Given the description of an element on the screen output the (x, y) to click on. 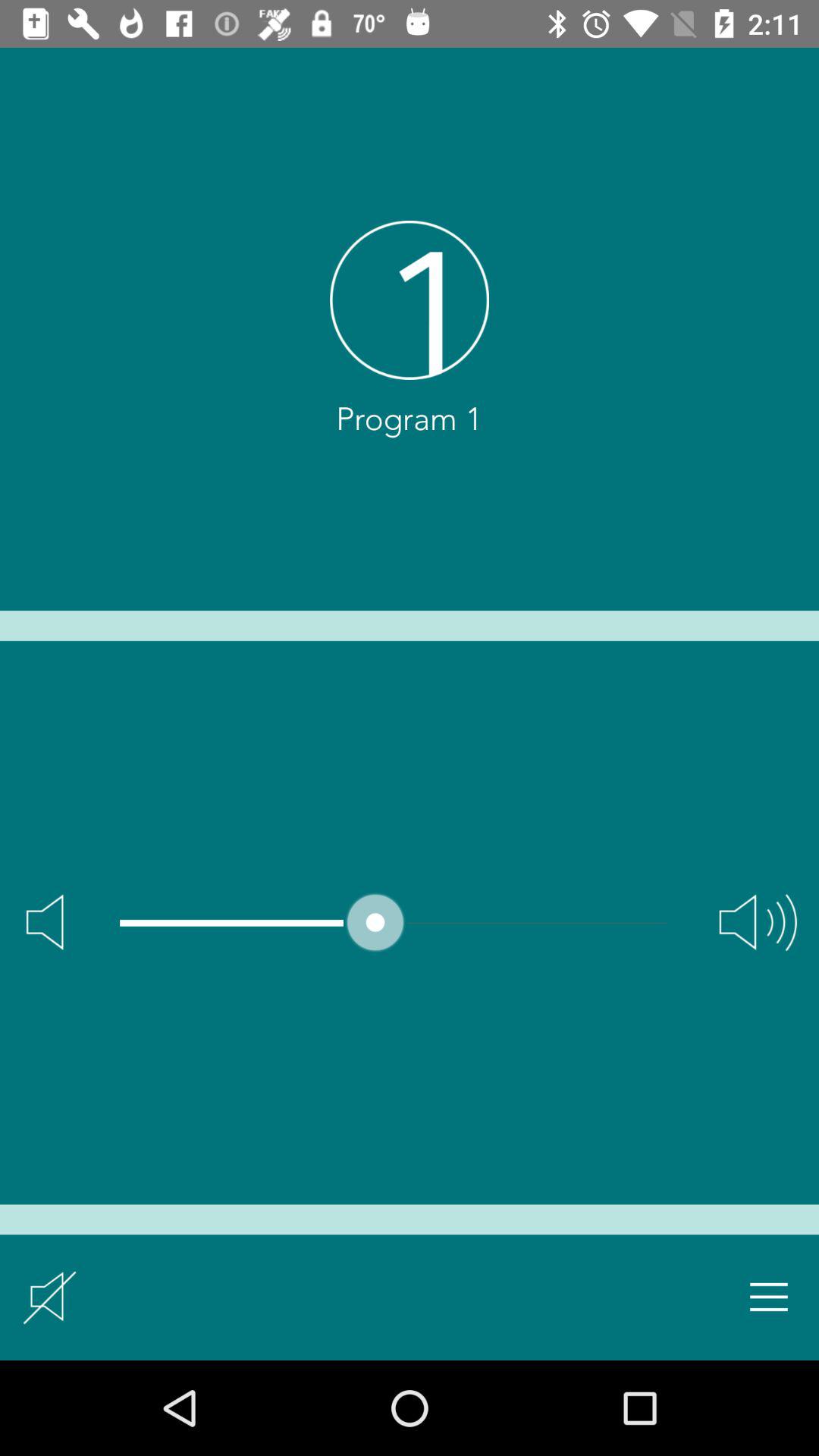
turn on icon at the bottom left corner (49, 1297)
